Given the description of an element on the screen output the (x, y) to click on. 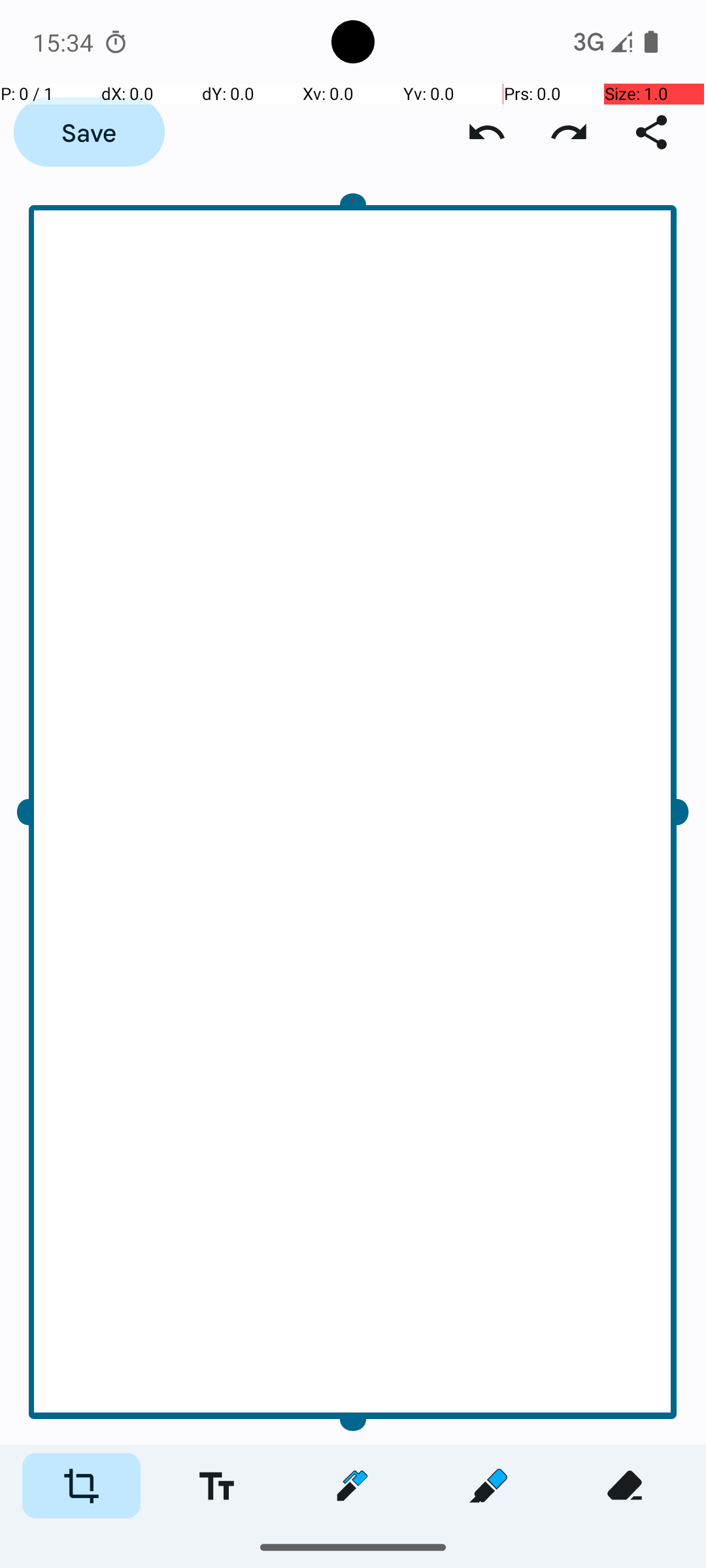
Drawing canvas Element type: android.widget.LinearLayout (353, 812)
Crop Element type: android.widget.Button (81, 1485)
Pen Element type: android.widget.Button (352, 1485)
Highlighter Element type: android.widget.Button (488, 1485)
Top boundary 0 percent Element type: android.widget.SeekBar (353, 215)
Left boundary 0 percent Element type: android.widget.SeekBar (37, 812)
Right boundary 100 percent Element type: android.widget.SeekBar (668, 812)
Bottom boundary 100 percent Element type: android.widget.SeekBar (353, 1408)
